Given the description of an element on the screen output the (x, y) to click on. 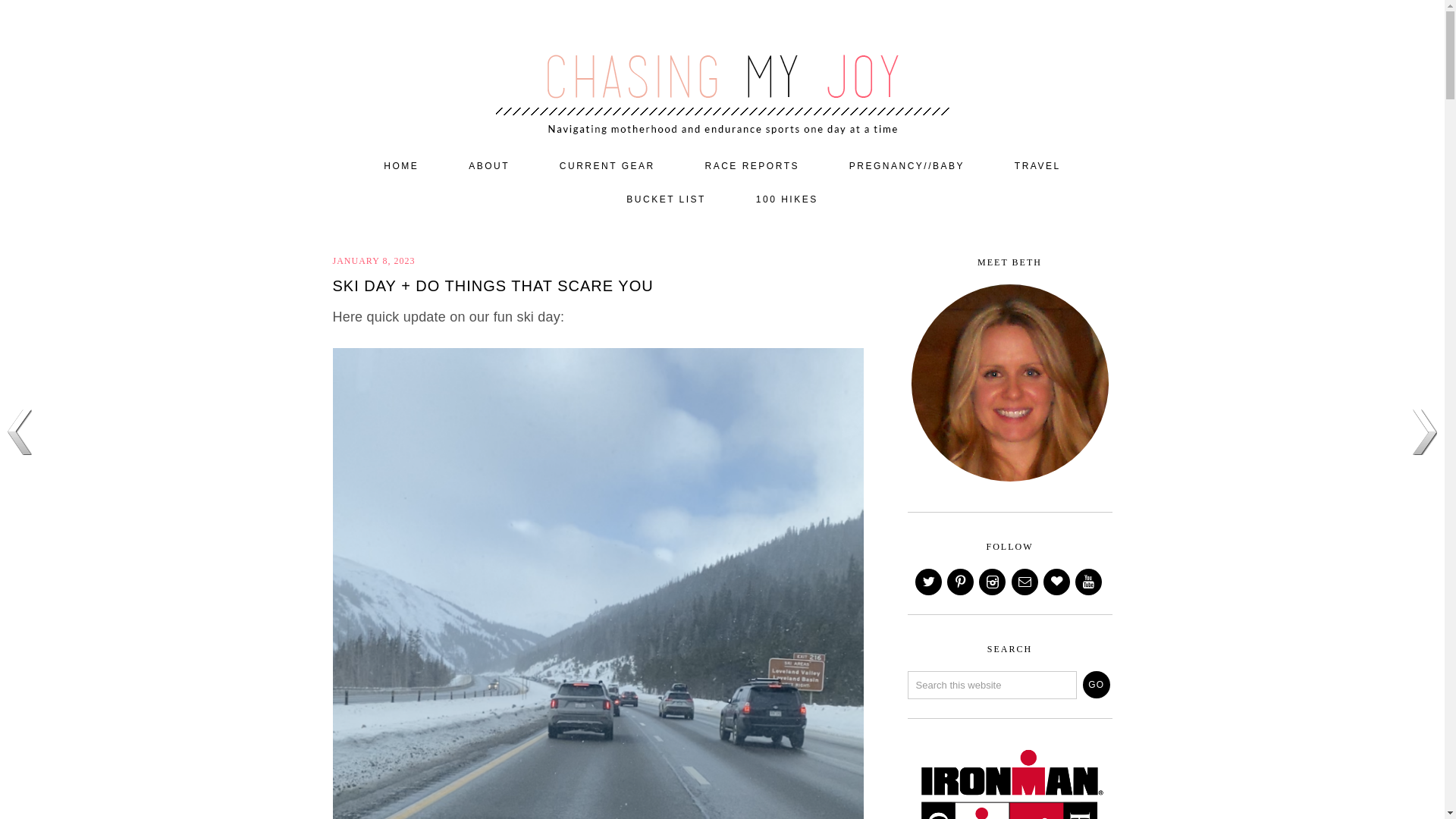
TRAVEL (1037, 166)
ABOUT (488, 166)
Pinterest (961, 582)
Bloglovin (1057, 582)
HOME (401, 166)
100 HIKES (787, 200)
Email Me (1026, 582)
Youtube (1089, 582)
CHASING MY JOY (721, 70)
BUCKET LIST (666, 200)
